Given the description of an element on the screen output the (x, y) to click on. 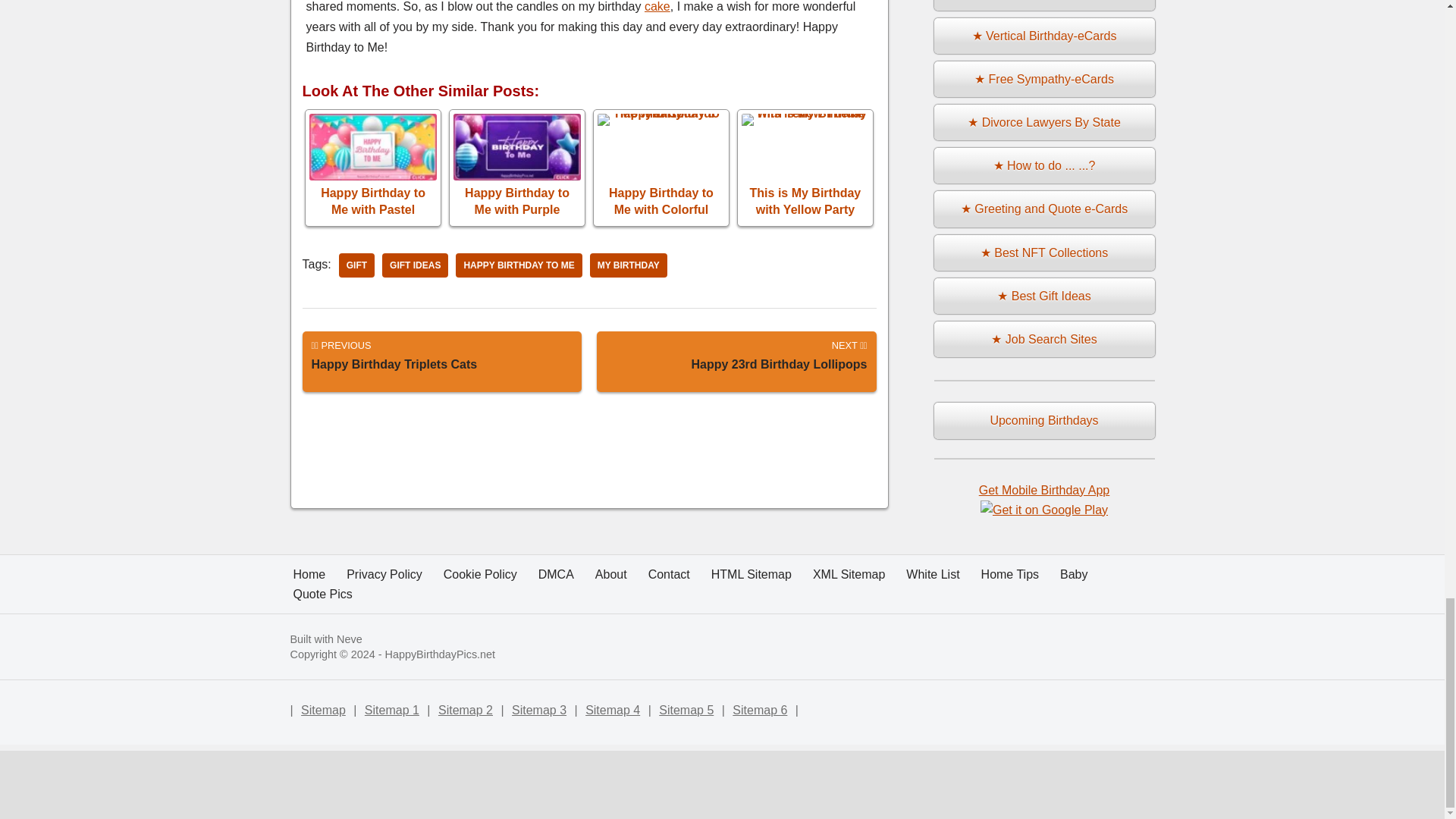
Happy Birthday to Me with Pastel Colors (373, 167)
Birthday Cakes (657, 6)
my birthday (627, 265)
gift ideas (414, 265)
Happy Birthday to Me with Colorful Party Theme (661, 167)
Happy Birthday to Me with Purple Balloons (440, 361)
This is My Birthday with Yellow Party Theme (517, 167)
happy birthday to me (805, 167)
